Given the description of an element on the screen output the (x, y) to click on. 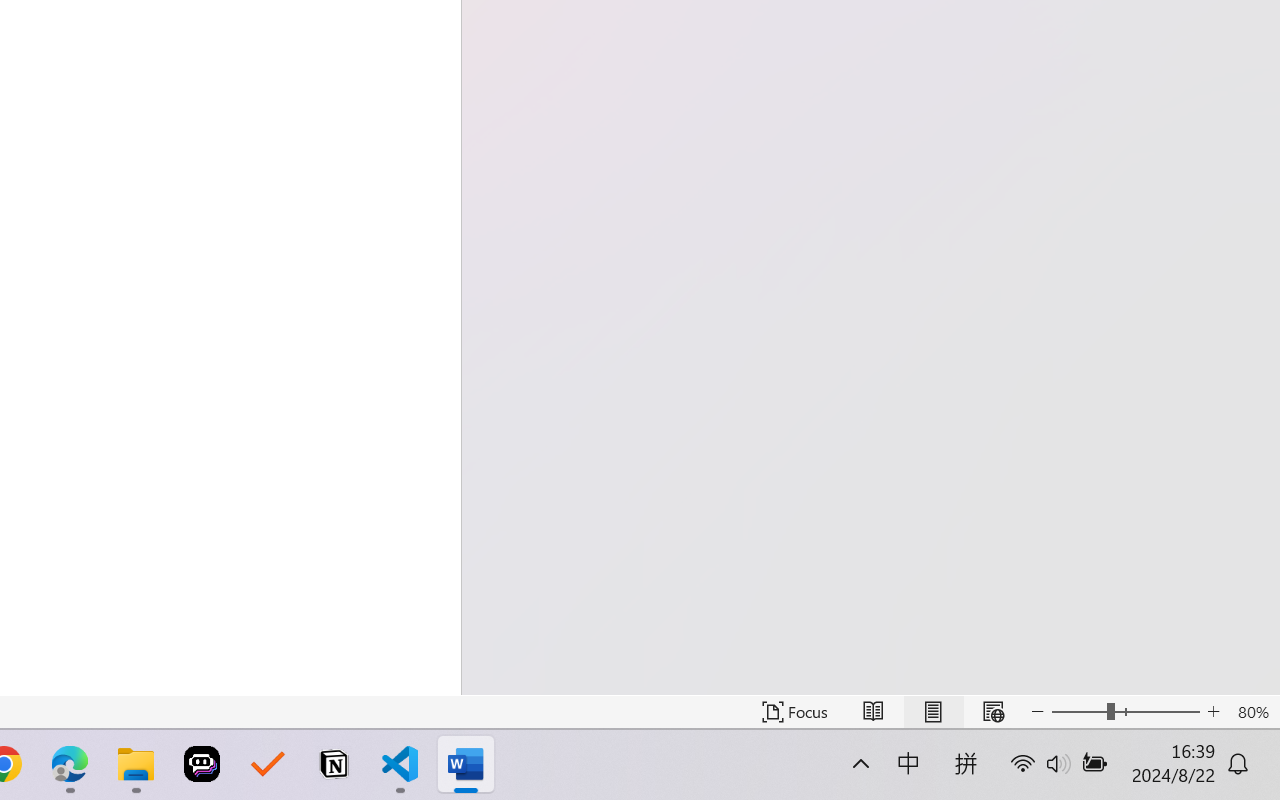
Zoom 80% (1253, 712)
